Given the description of an element on the screen output the (x, y) to click on. 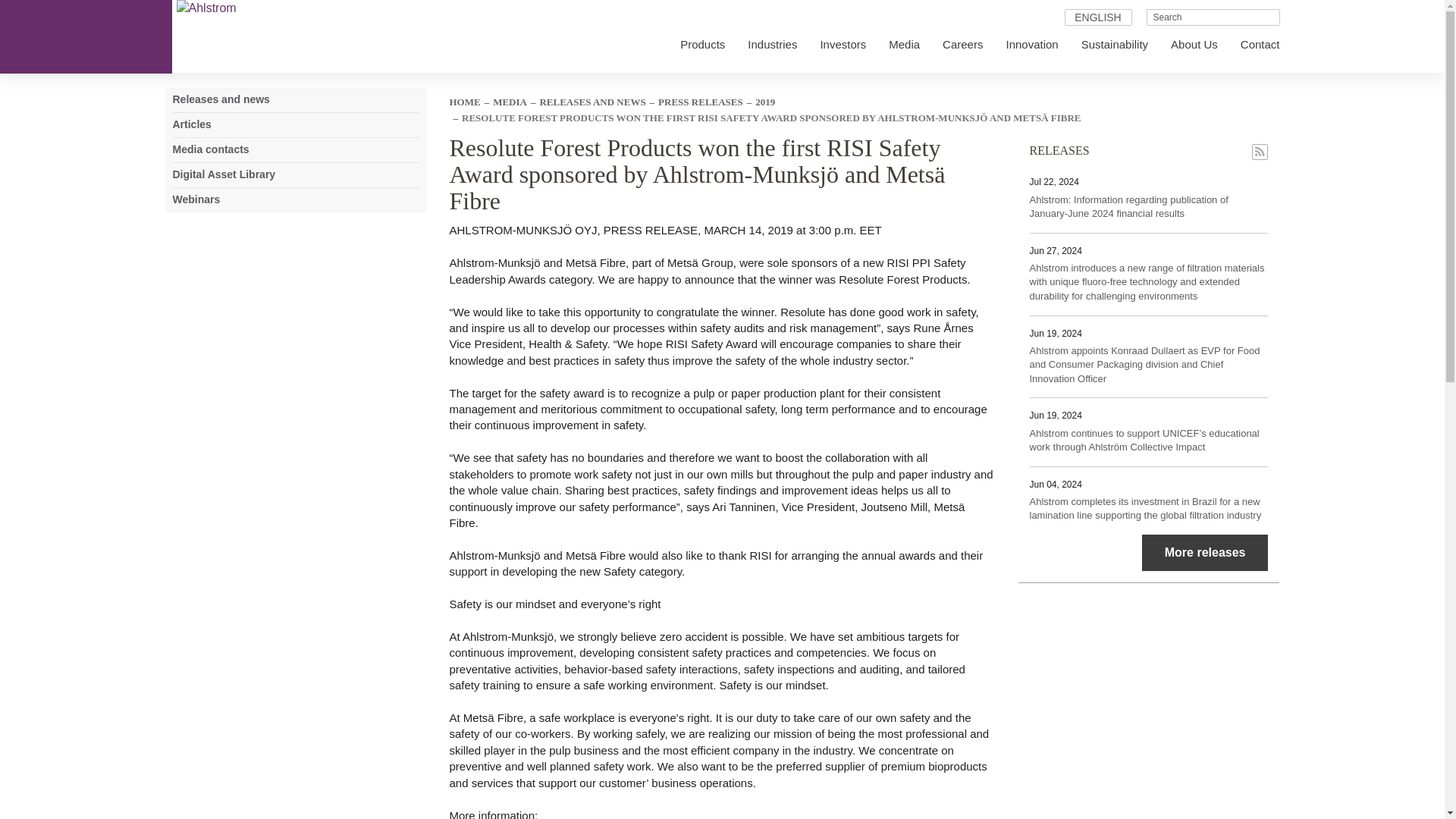
ENGLISH (1097, 17)
Products (691, 44)
